Given the description of an element on the screen output the (x, y) to click on. 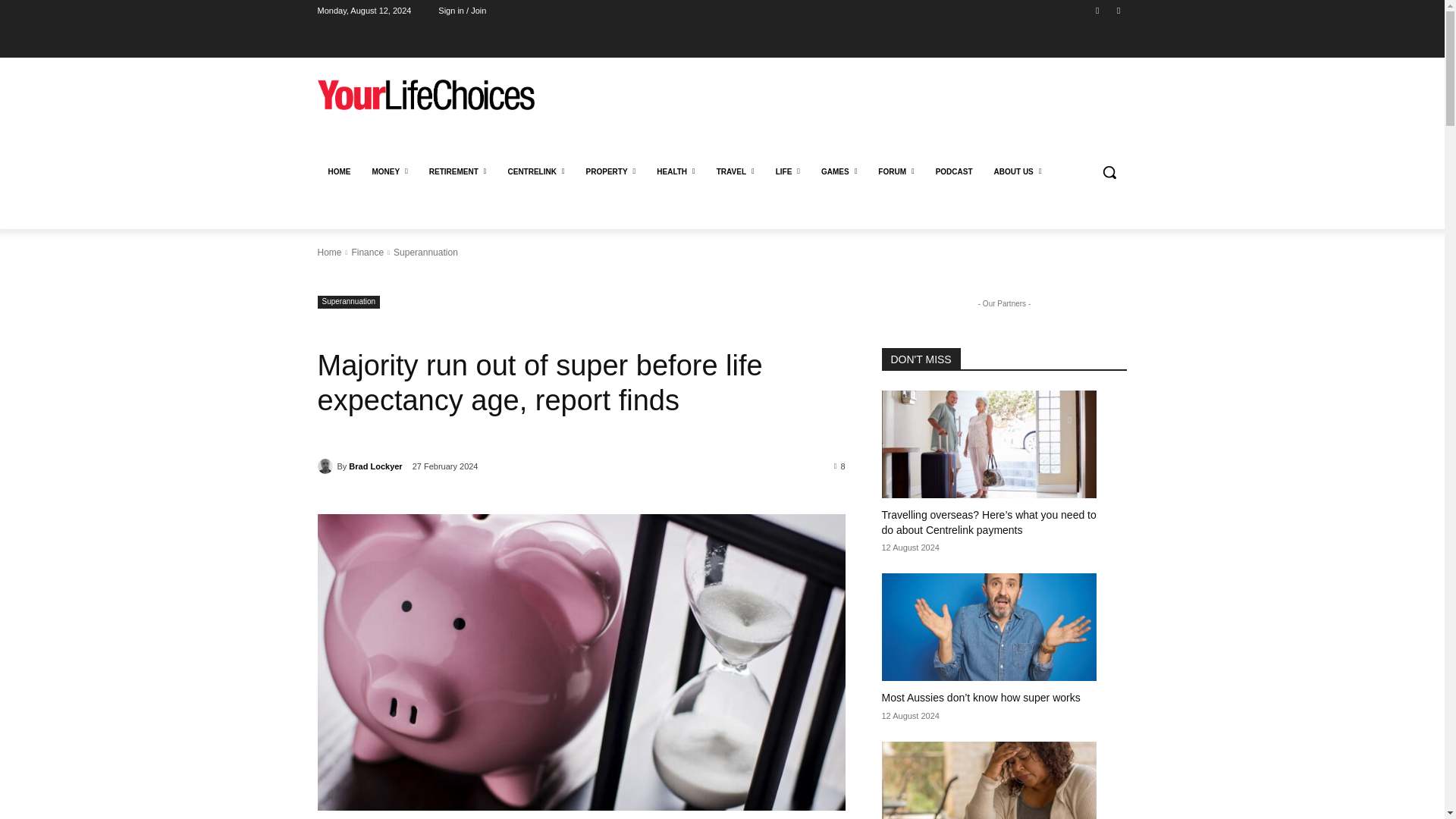
Brad Lockyer (326, 466)
View all posts in Finance (367, 252)
Twitter (1117, 9)
Facebook (1097, 9)
View all posts in Superannuation (425, 252)
